Given the description of an element on the screen output the (x, y) to click on. 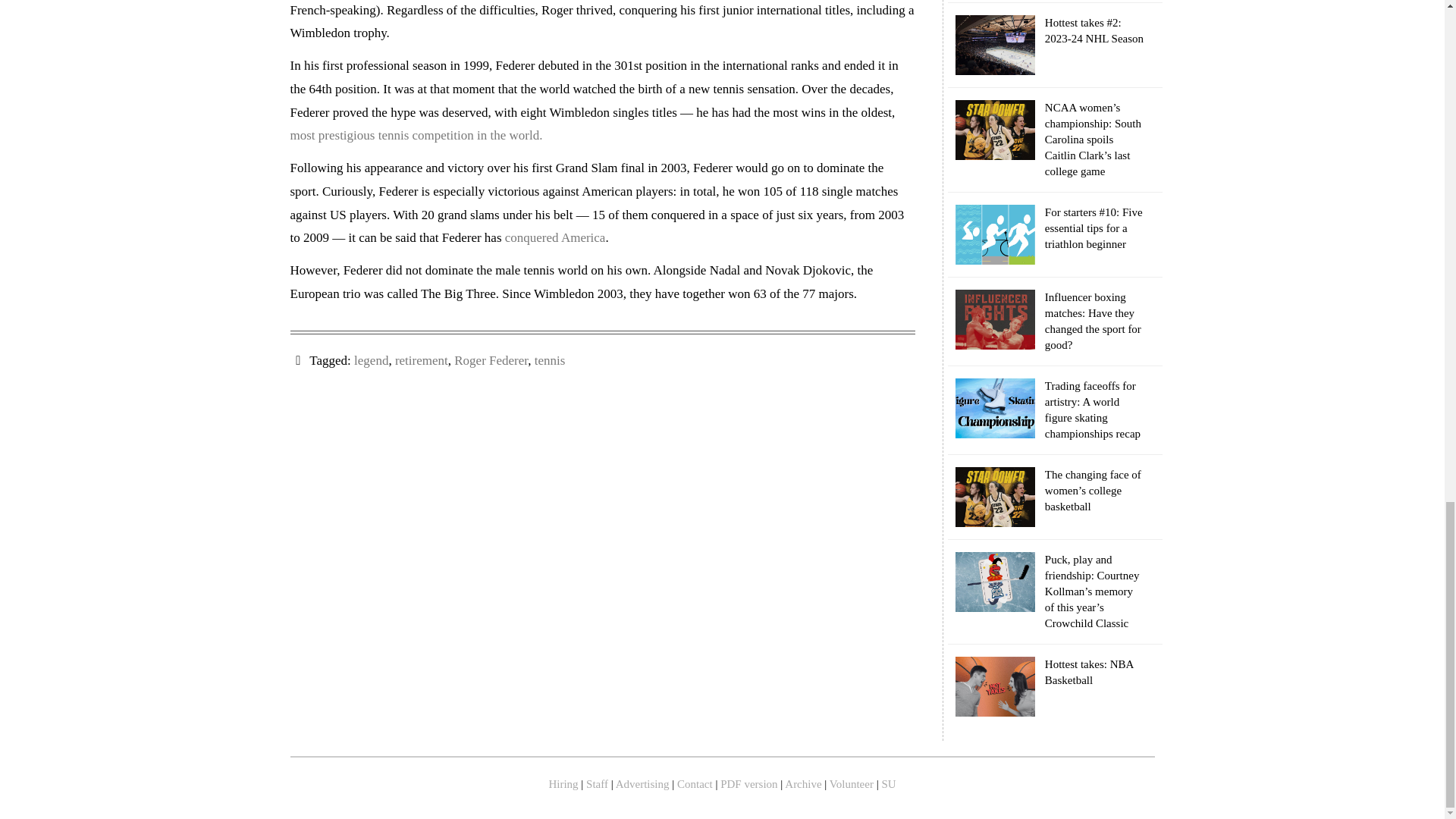
legend (370, 359)
conquered America (555, 237)
Archive (804, 784)
retirement (421, 359)
Advertising (643, 784)
PDF (750, 784)
Hiring (564, 784)
Staff (598, 784)
most prestigious tennis competition in the world. (415, 134)
Roger Federer (490, 359)
Contact (695, 784)
